Given the description of an element on the screen output the (x, y) to click on. 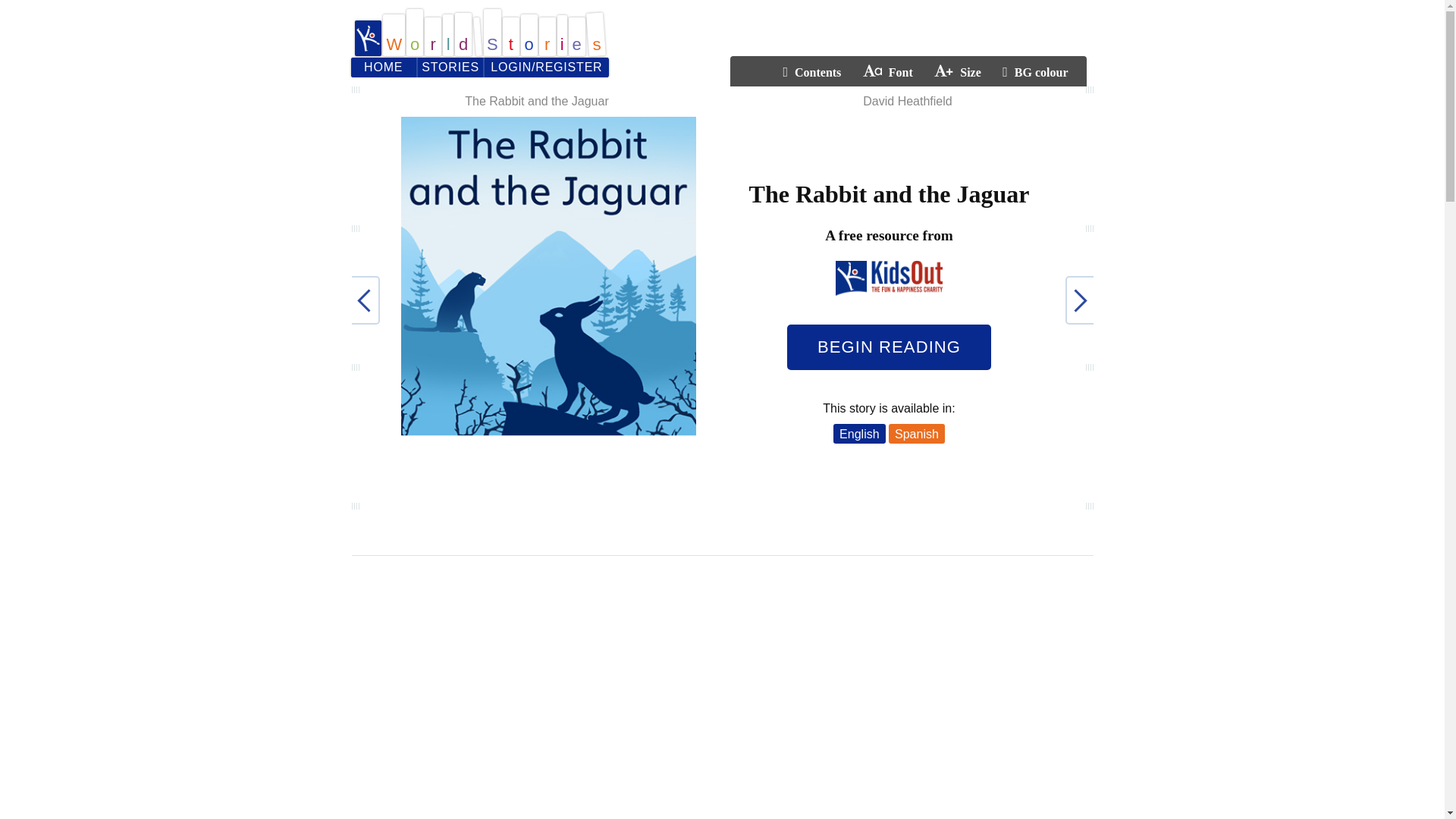
English (858, 433)
Spanish (916, 433)
HOME (382, 66)
Contents (812, 71)
STORIES (450, 66)
BEGIN READING (889, 347)
Font (887, 71)
Size (957, 71)
BG colour (1035, 71)
